Given the description of an element on the screen output the (x, y) to click on. 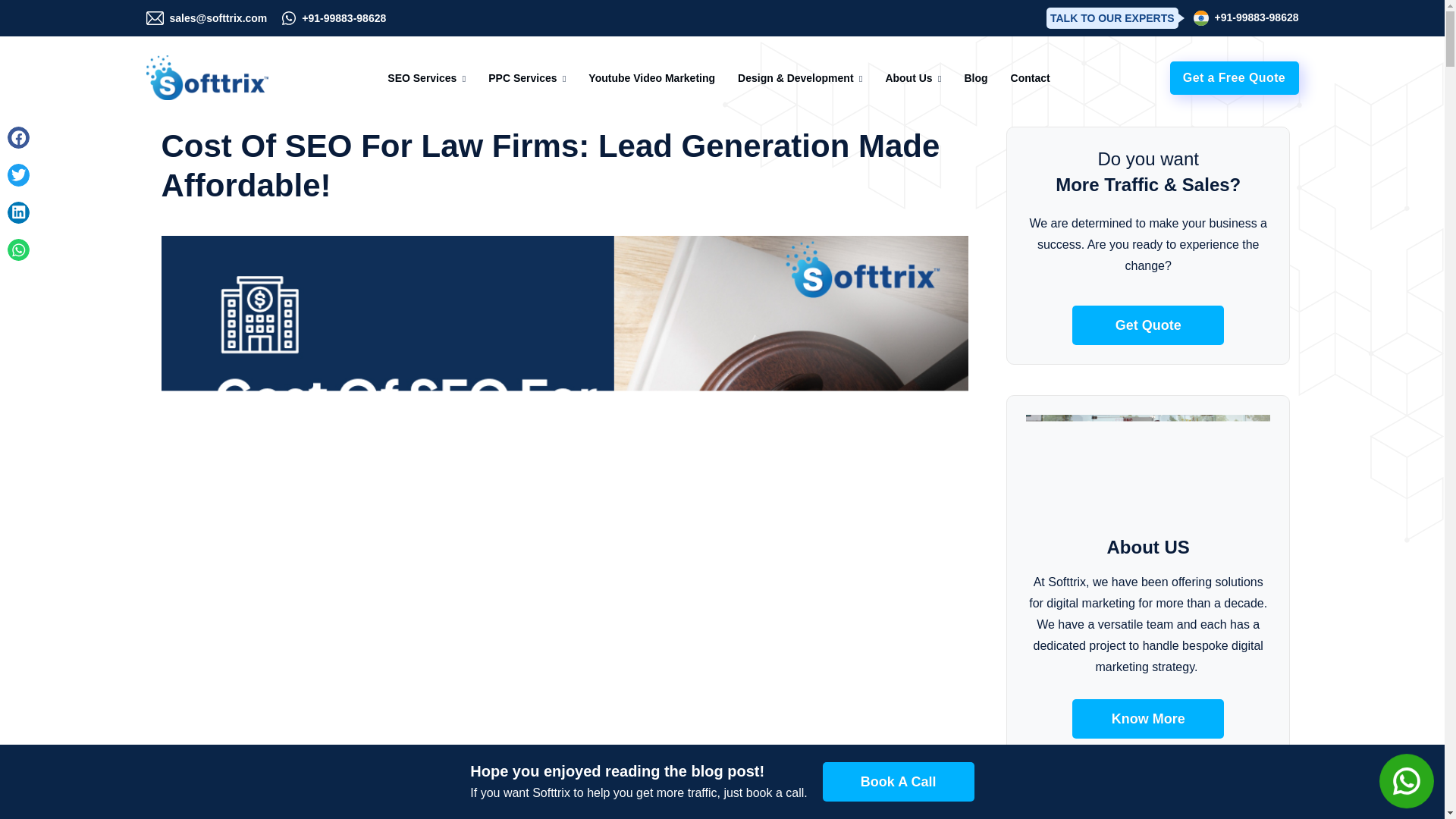
About Us (908, 77)
SEO Services (422, 77)
Youtube Video Marketing (651, 77)
Gary (183, 777)
Blog (975, 77)
35 Comments (394, 777)
Get a Free Quote (1233, 77)
PPC Services (521, 77)
Contact (1029, 77)
